Given the description of an element on the screen output the (x, y) to click on. 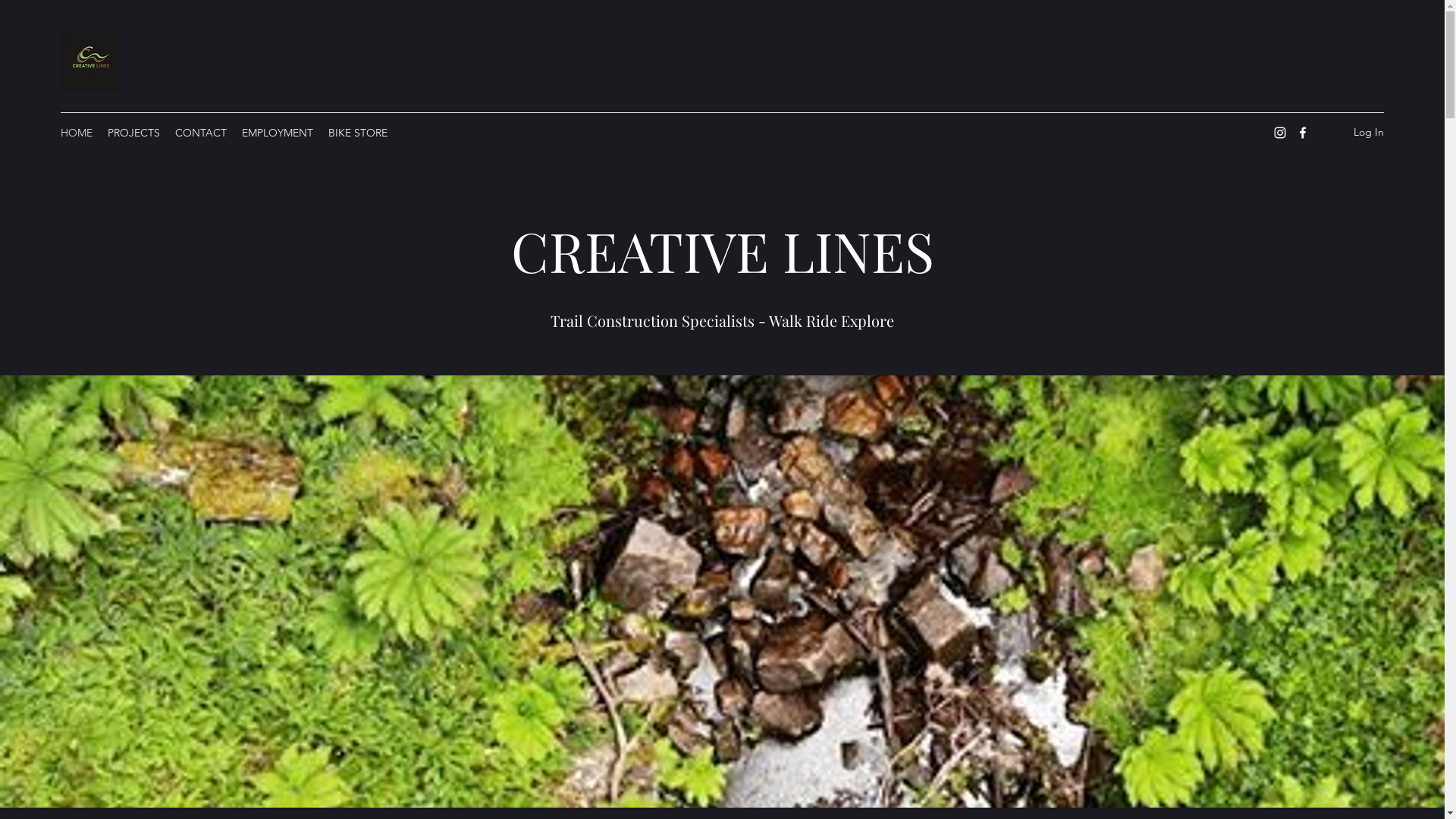
Trail Construction Specialists Element type: text (652, 320)
BIKE STORE Element type: text (357, 132)
PROJECTS Element type: text (133, 132)
Log In Element type: text (1349, 132)
EMPLOYMENT Element type: text (277, 132)
CONTACT Element type: text (200, 132)
HOME Element type: text (76, 132)
